Given the description of an element on the screen output the (x, y) to click on. 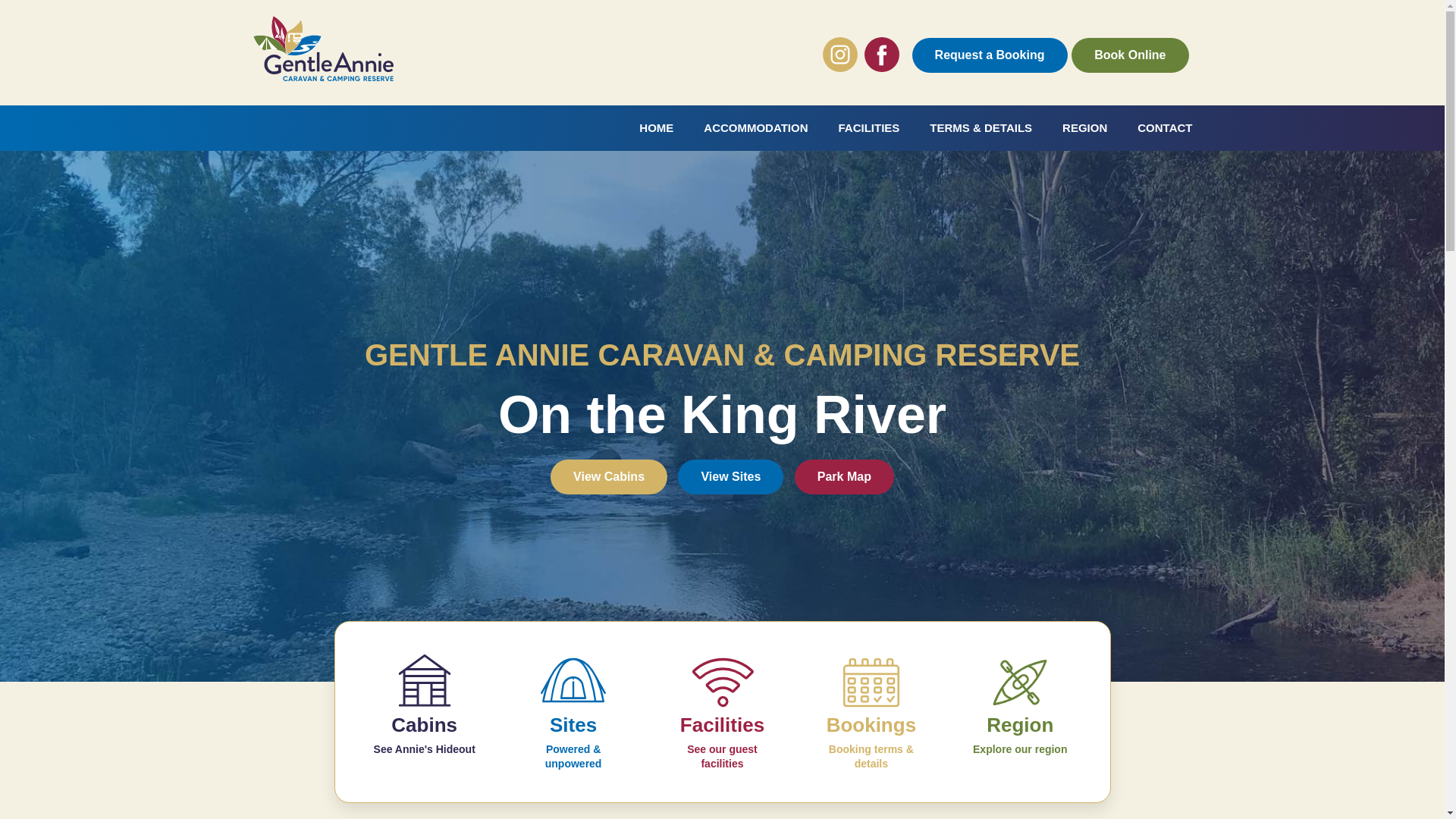
TERMS & DETAILS Element type: text (980, 127)
ACCOMMODATION Element type: text (755, 127)
Bookings
Booking terms & details Element type: text (871, 711)
View Sites Element type: text (730, 476)
Gentle Annie Caravan & Camping Reserve Logo Element type: hover (323, 50)
HOME Element type: text (656, 127)
FACILITIES Element type: text (869, 127)
Request a Booking Element type: text (989, 54)
Park Map Element type: text (844, 476)
Region
Explore our region Element type: text (1019, 704)
Facilities
See our guest facilities Element type: text (721, 711)
Gentle Annie Caravan & Camping Reserve Facebook Element type: hover (881, 54)
Cabins
See Annie's Hideout Element type: text (424, 704)
View Cabins Element type: text (608, 476)
Book Online Element type: text (1129, 54)
REGION Element type: text (1084, 127)
Sites
Powered & unpowered Element type: text (572, 711)
Gentle Annie Caravan & Camping Reserve Instagram Element type: hover (840, 54)
CONTACT Element type: text (1164, 127)
